Given the description of an element on the screen output the (x, y) to click on. 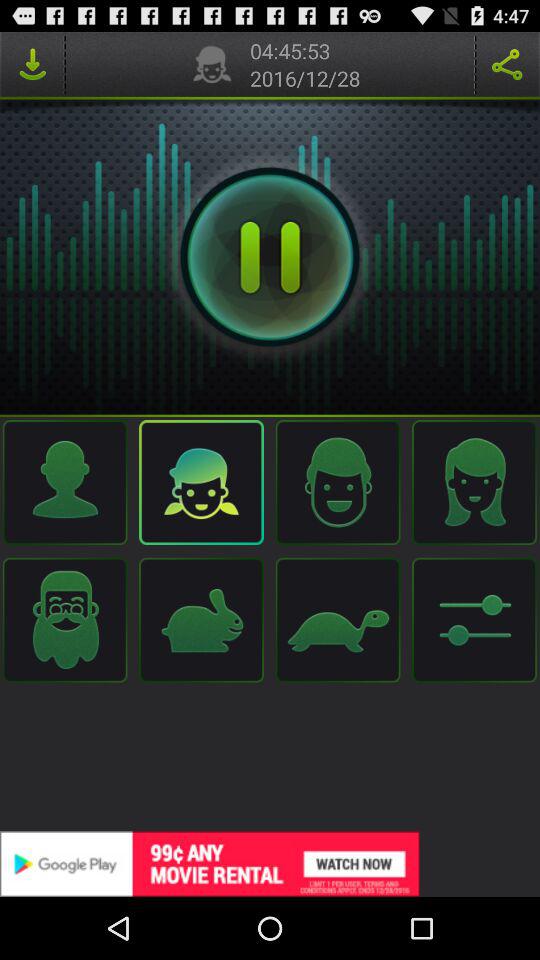
redirects you to offer (270, 864)
